Given the description of an element on the screen output the (x, y) to click on. 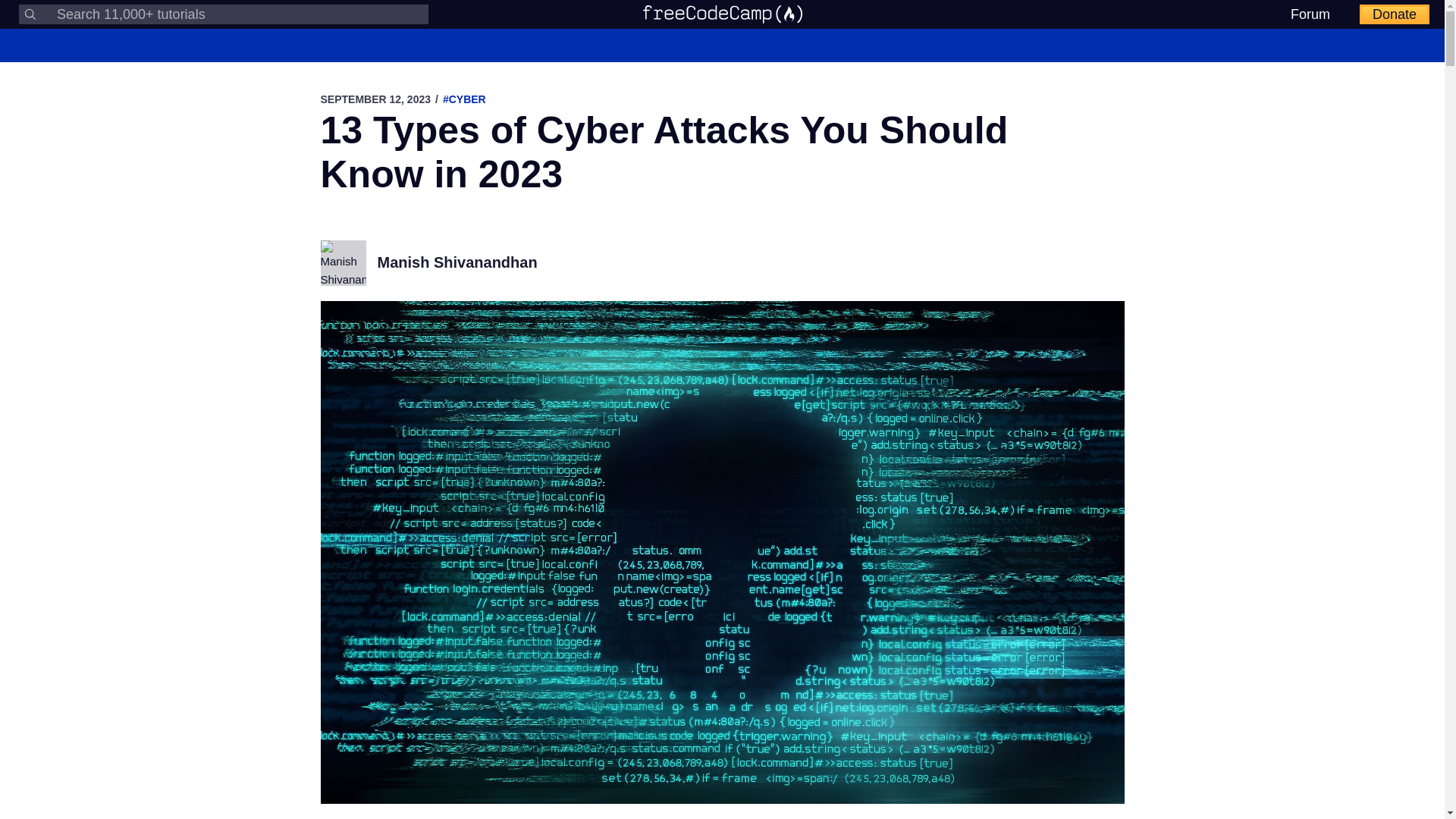
Forum (1309, 14)
Donate (1394, 14)
Submit your search query (30, 14)
Manish Shivanandhan (457, 262)
